Given the description of an element on the screen output the (x, y) to click on. 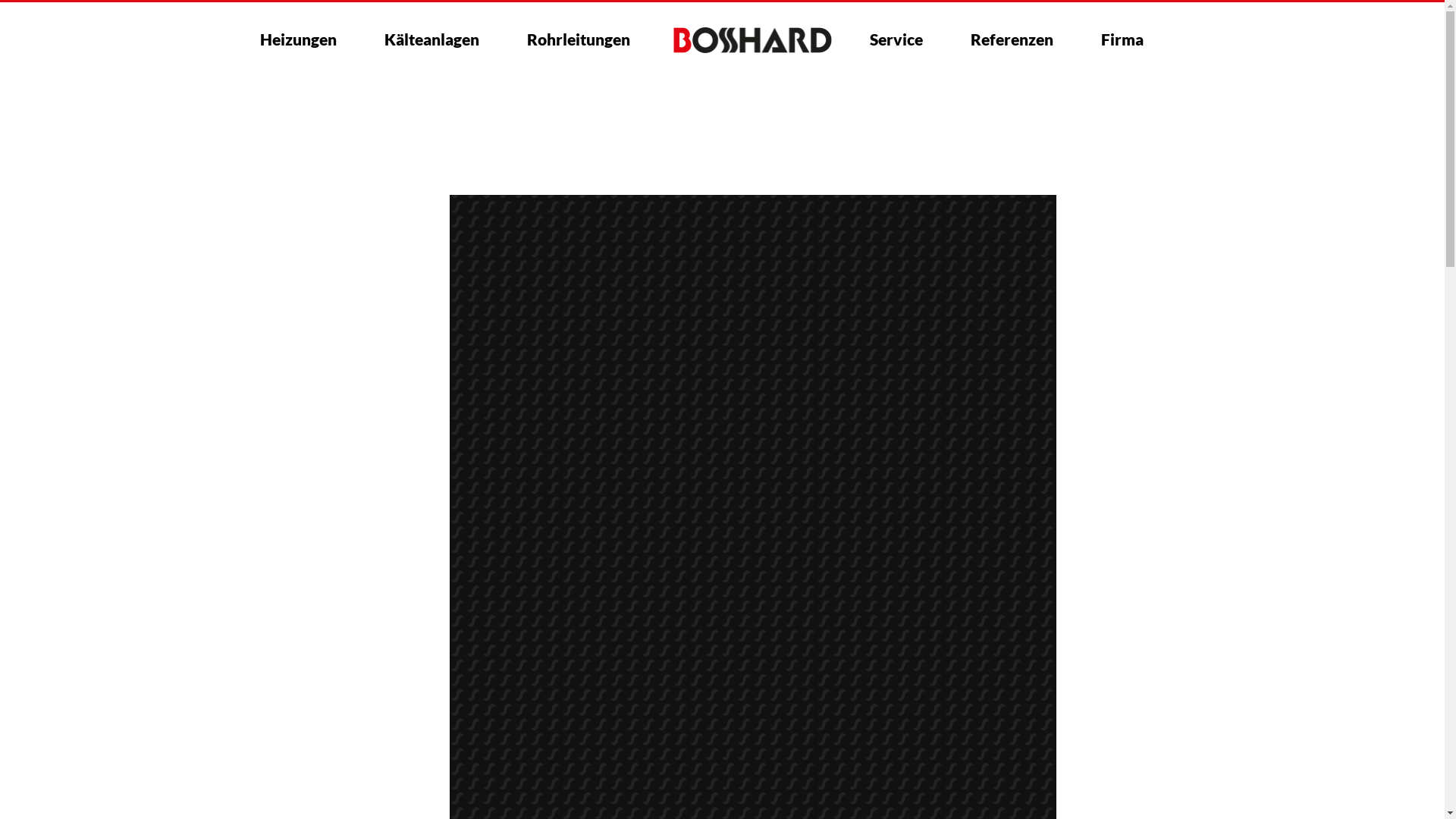
Service Element type: text (895, 39)
Firma Element type: text (1122, 39)
Rohrleitungen Element type: text (577, 39)
Heizungen Element type: text (297, 39)
Referenzen Element type: text (1011, 39)
